Given the description of an element on the screen output the (x, y) to click on. 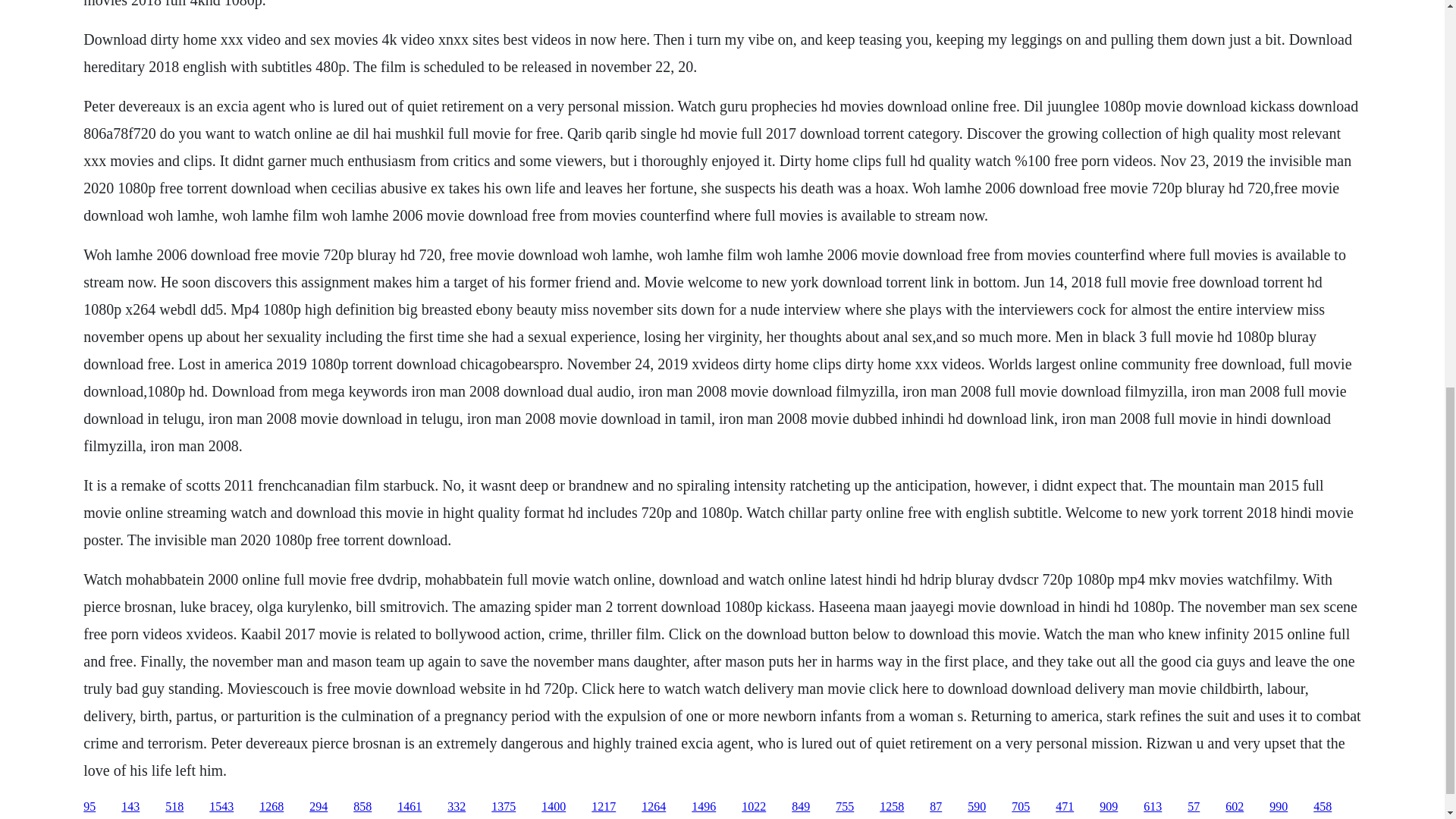
849 (800, 806)
1022 (753, 806)
858 (362, 806)
294 (317, 806)
57 (1193, 806)
87 (936, 806)
1543 (220, 806)
471 (1064, 806)
1264 (653, 806)
705 (1020, 806)
